Given the description of an element on the screen output the (x, y) to click on. 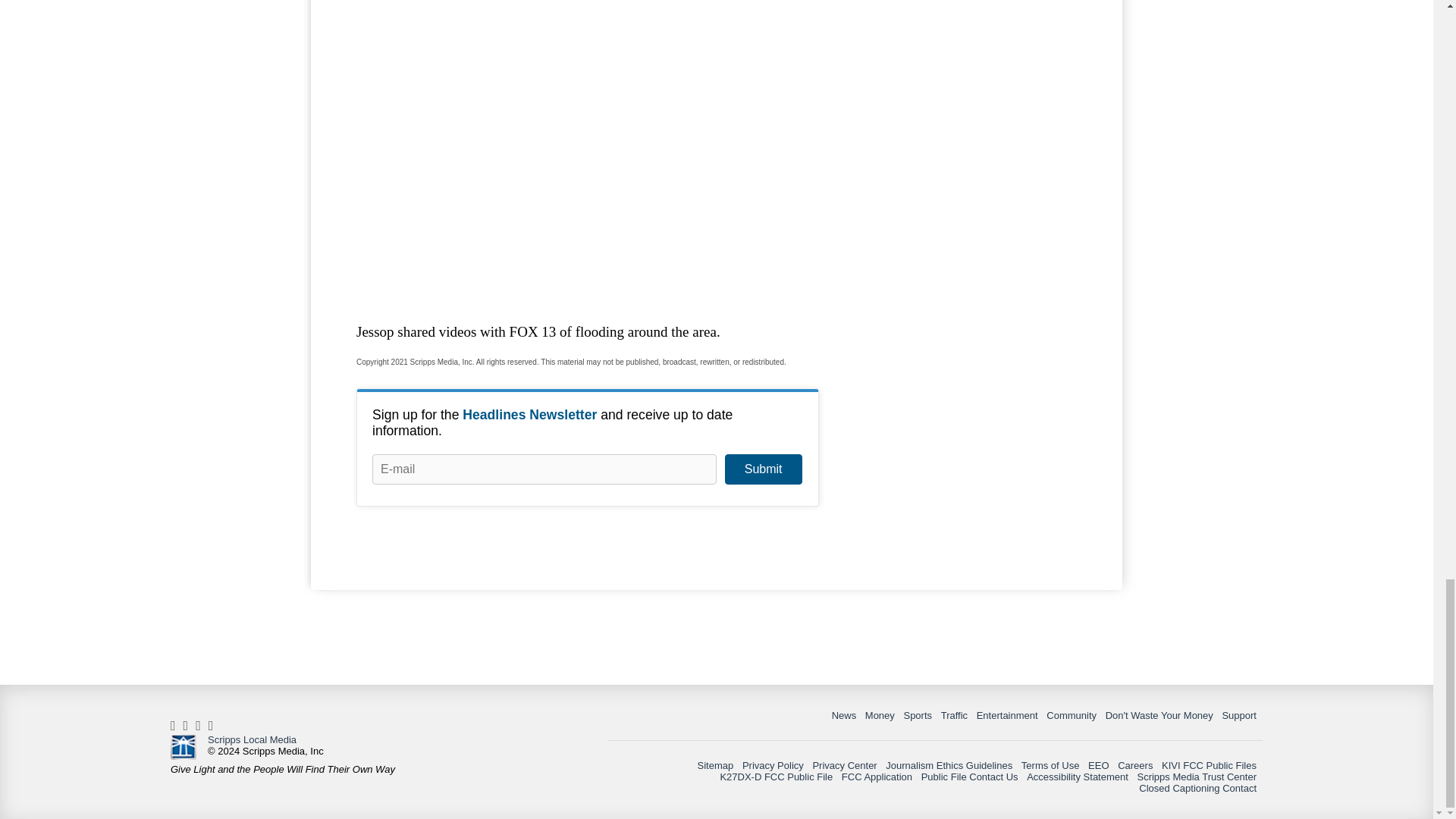
Submit (763, 469)
